Given the description of an element on the screen output the (x, y) to click on. 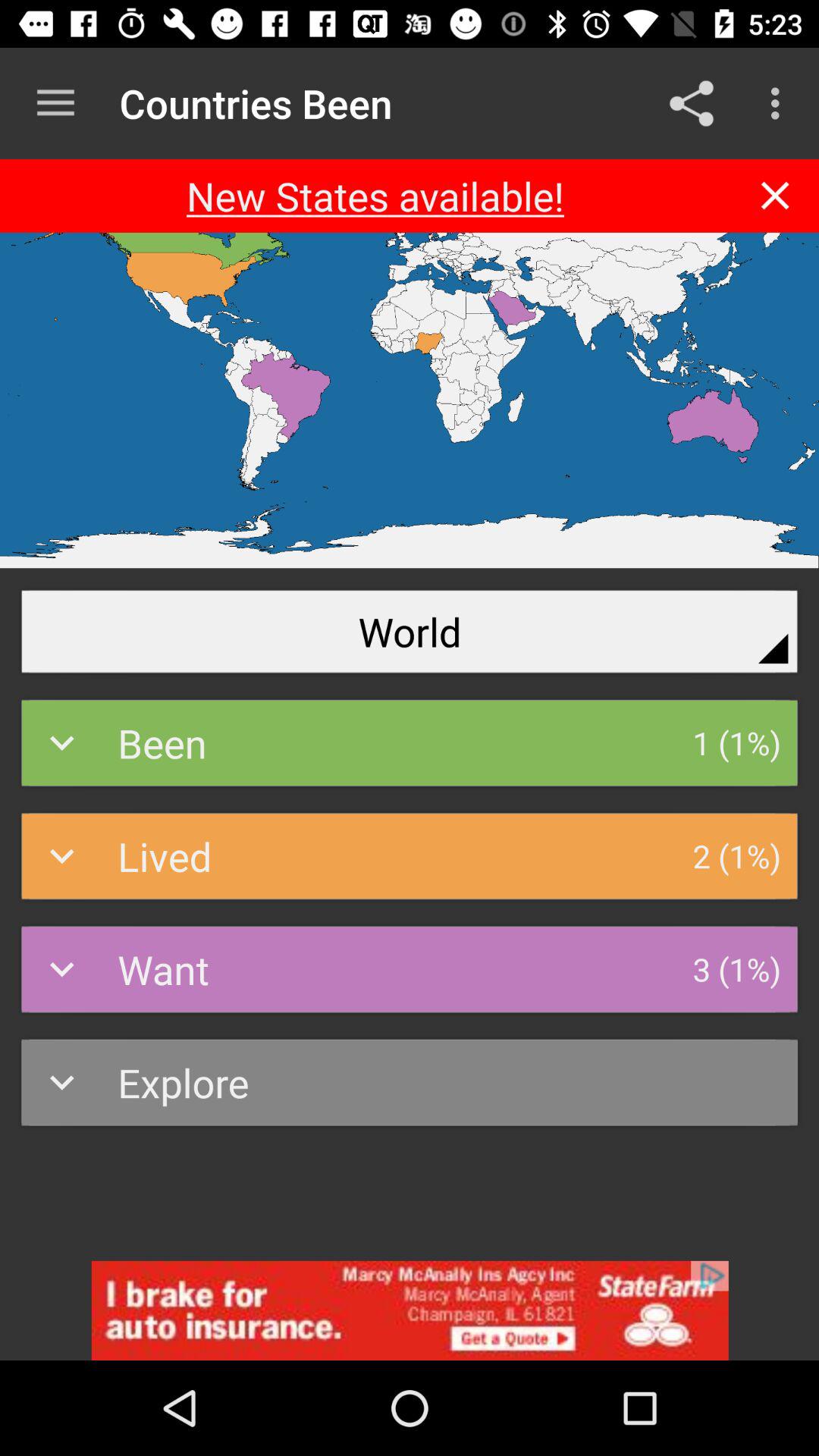
click on the advertisement (409, 1310)
